Given the description of an element on the screen output the (x, y) to click on. 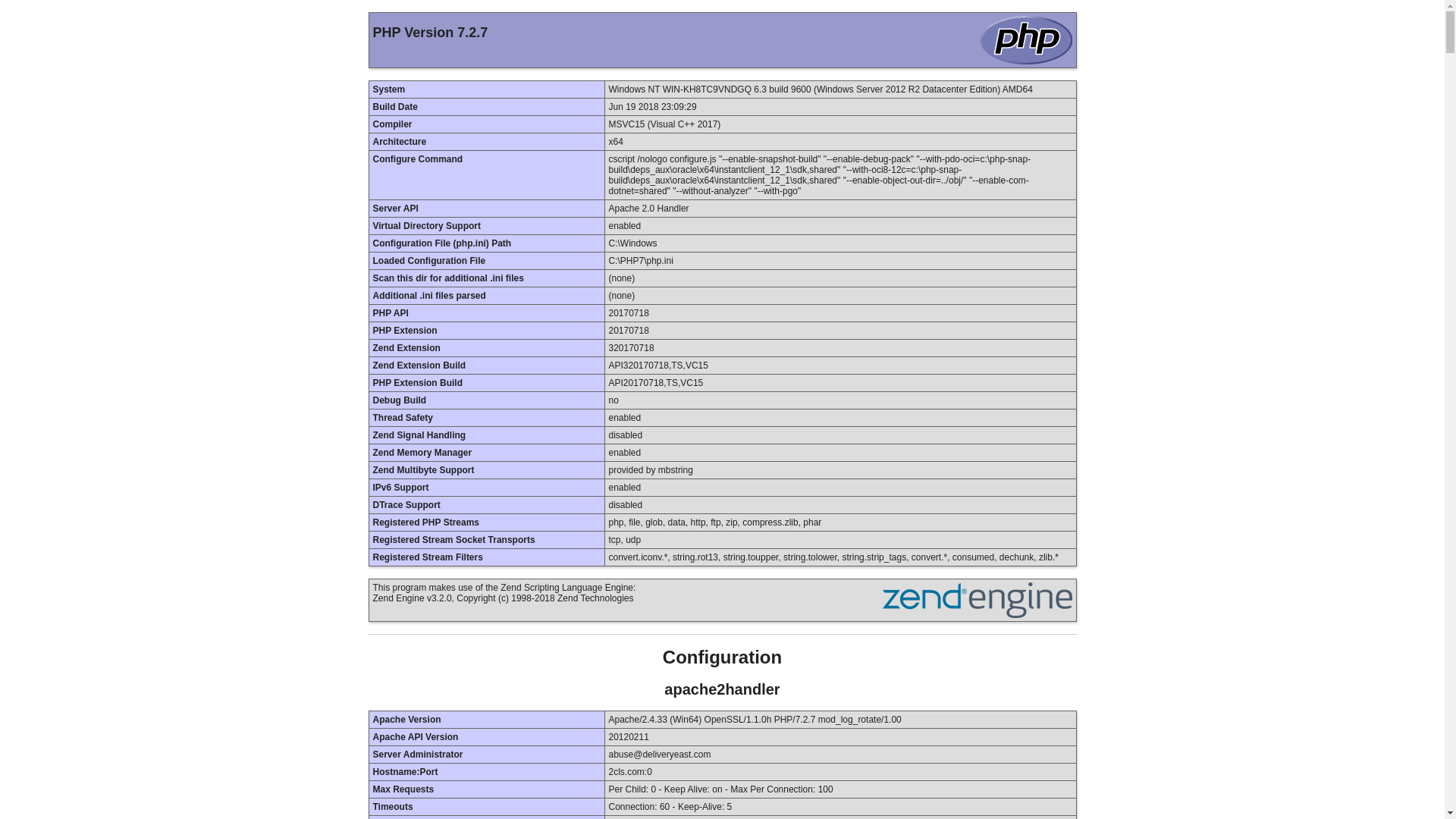
apache2handler Element type: text (721, 688)
